Given the description of an element on the screen output the (x, y) to click on. 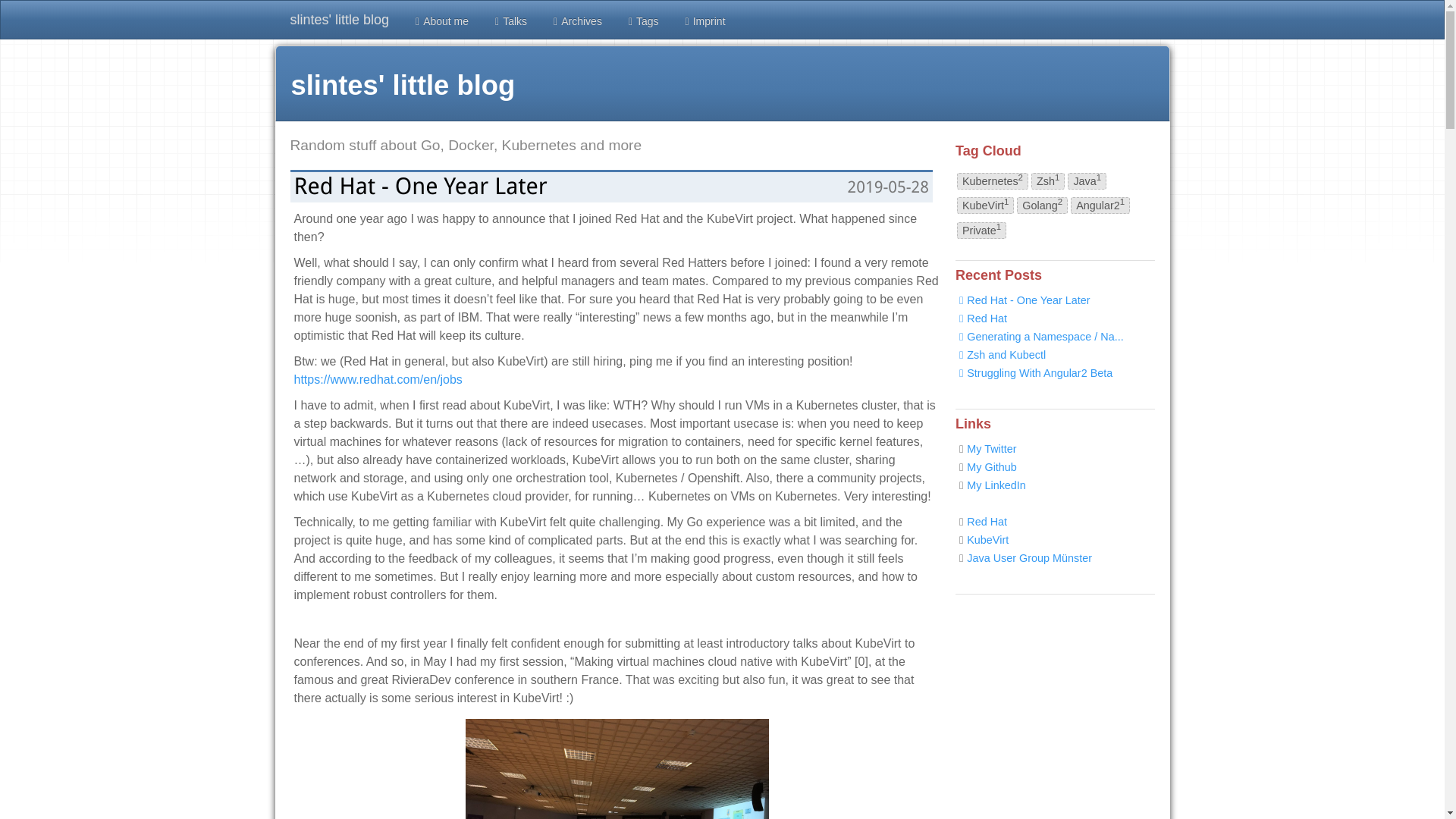
All the tags. (640, 19)
My Github account. (991, 467)
Talks. (509, 19)
RivieraDev (616, 769)
All the articles. (575, 19)
Red Hat - One Year Later (420, 185)
Tags (640, 19)
Archives (575, 19)
Imprint (702, 19)
My Twitter account. (991, 449)
About me (440, 19)
About me. (440, 19)
Impressum (702, 19)
slintes' little blog (340, 19)
Talks (509, 19)
